Given the description of an element on the screen output the (x, y) to click on. 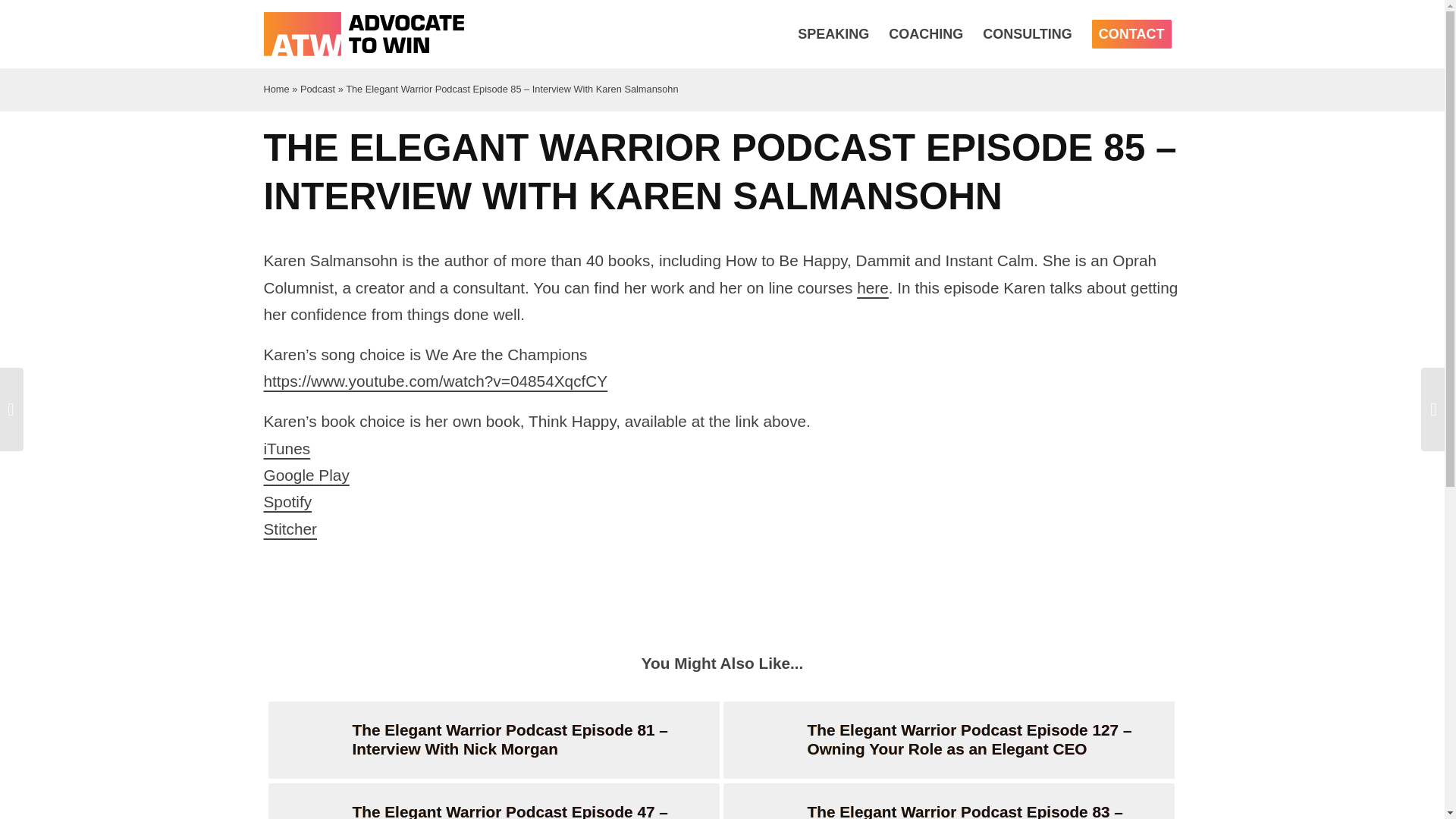
CONSULTING (1026, 33)
Podcast (316, 89)
SPEAKING (833, 33)
Home (276, 89)
Advocate To Win logo (363, 33)
Stitcher (290, 528)
Spotify (288, 501)
here (872, 287)
COACHING (925, 33)
CONTACT (1130, 33)
Google Play (306, 475)
iTunes (287, 448)
